Given the description of an element on the screen output the (x, y) to click on. 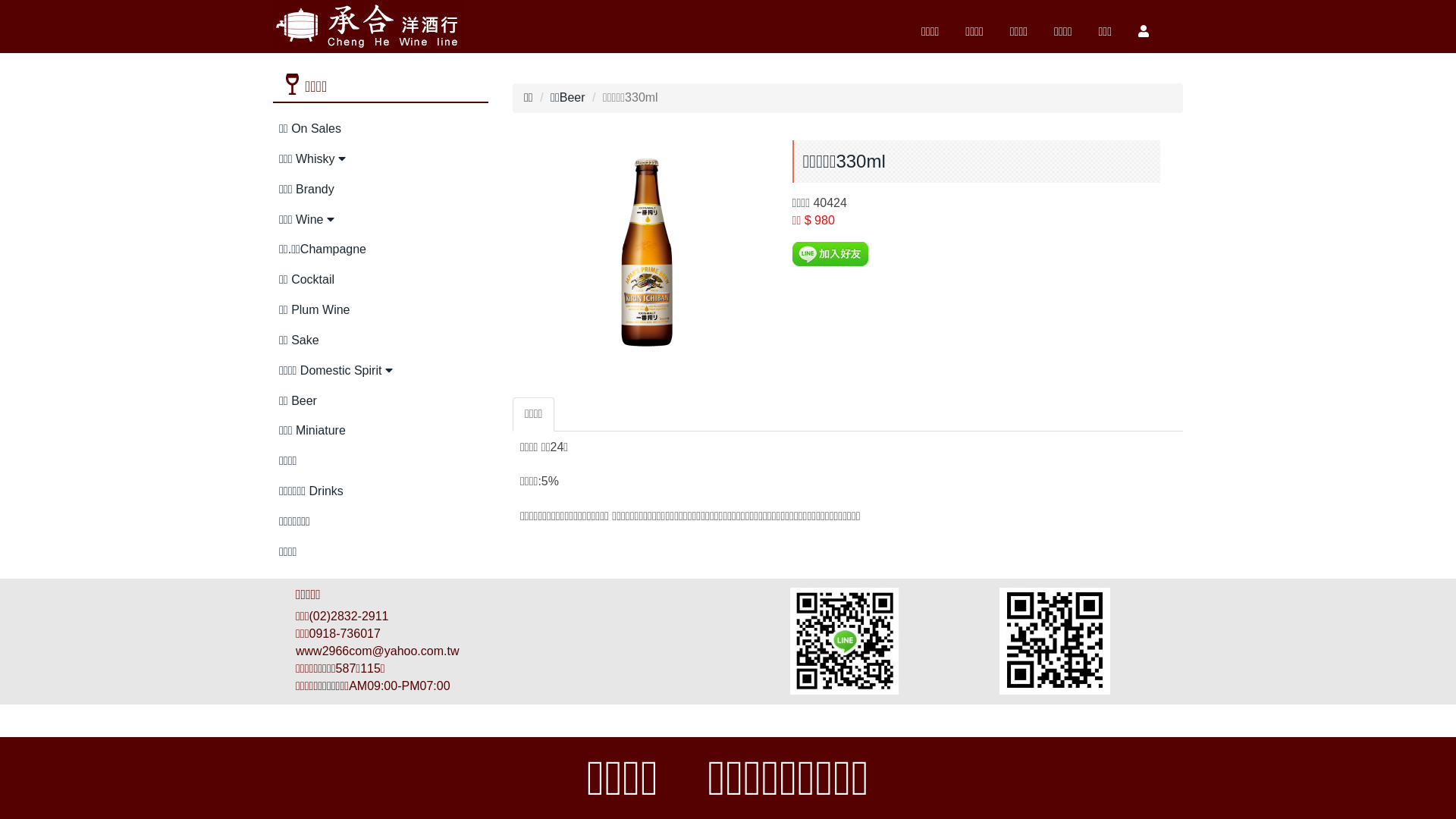
(02)2832-2911 Element type: text (349, 615)
0918-736017 Element type: text (344, 633)
www2966com@yahoo.com.tw Element type: text (376, 650)
